Given the description of an element on the screen output the (x, y) to click on. 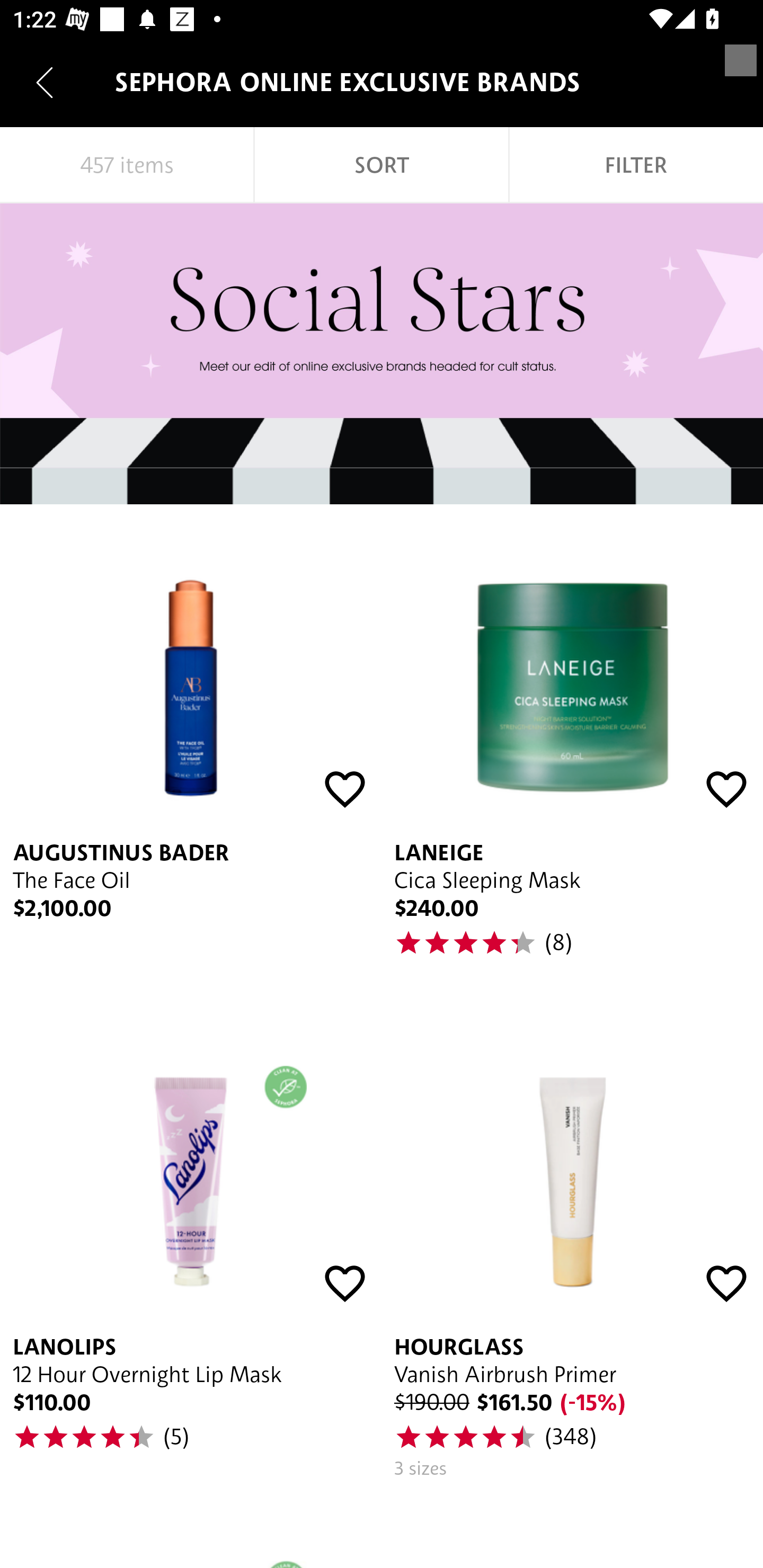
Navigate up (44, 82)
SORT (381, 165)
FILTER (636, 165)
AUGUSTINUS BADER The Face Oil $2,100.00 (190, 751)
LANEIGE Cica Sleeping Mask $240.00 43.0 (8) (572, 751)
